Given the description of an element on the screen output the (x, y) to click on. 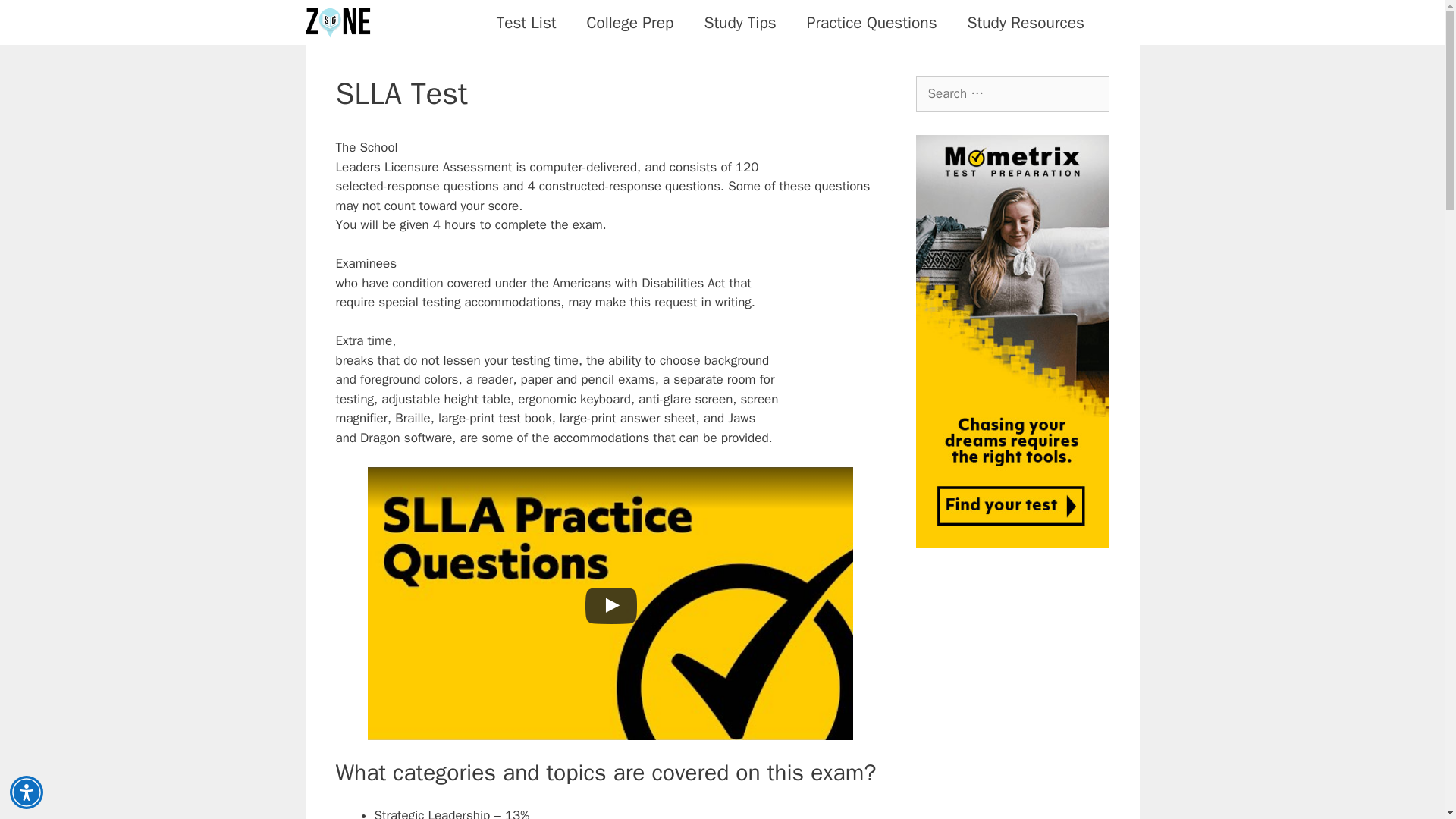
Practice Questions (872, 22)
College Prep (630, 22)
Study Guide Zone (340, 22)
Search for: (1012, 94)
Test List (526, 22)
Search (35, 18)
Accessibility Menu (26, 792)
Study Tips (739, 22)
Study Guide Zone (336, 22)
Study Resources (1025, 22)
